Given the description of an element on the screen output the (x, y) to click on. 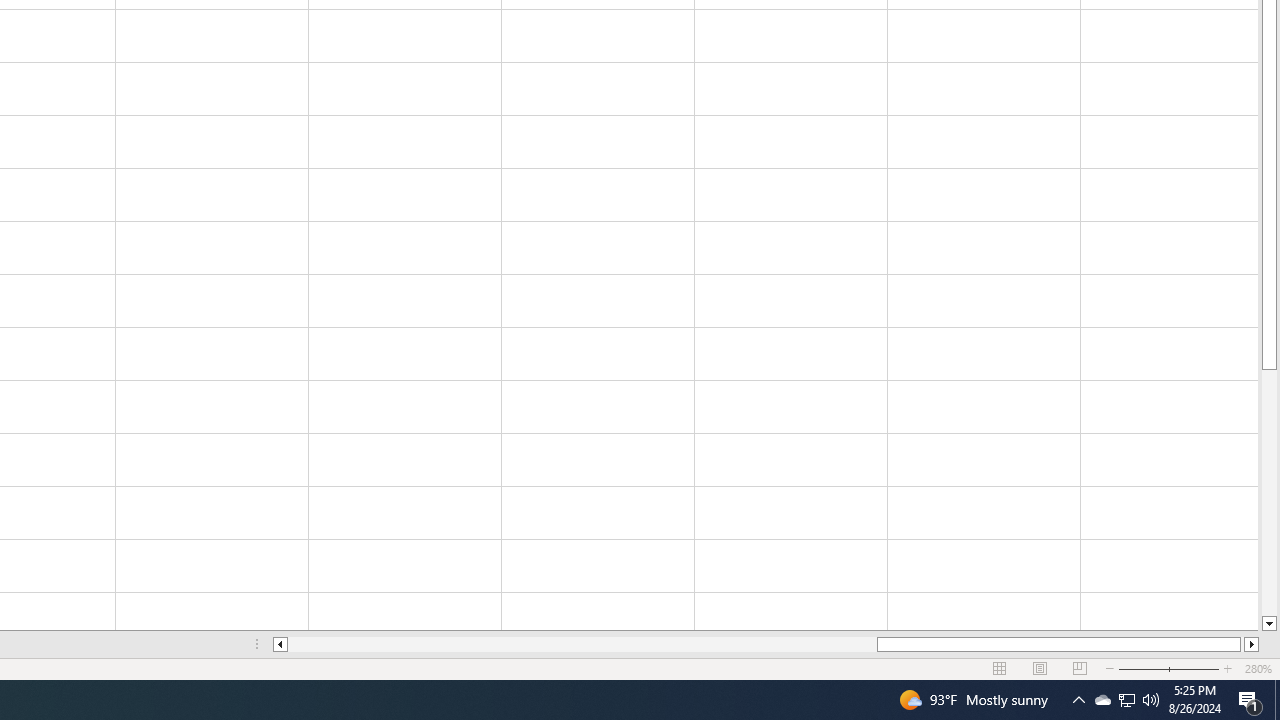
Page down (1268, 493)
Page Break Preview (1079, 668)
Column right (1252, 644)
Zoom In (1227, 668)
Zoom (1168, 668)
Line down (1268, 624)
Column left (279, 644)
Class: NetUIScrollBar (765, 644)
Normal (1000, 668)
Zoom Out (1156, 668)
Page left (582, 644)
